Given the description of an element on the screen output the (x, y) to click on. 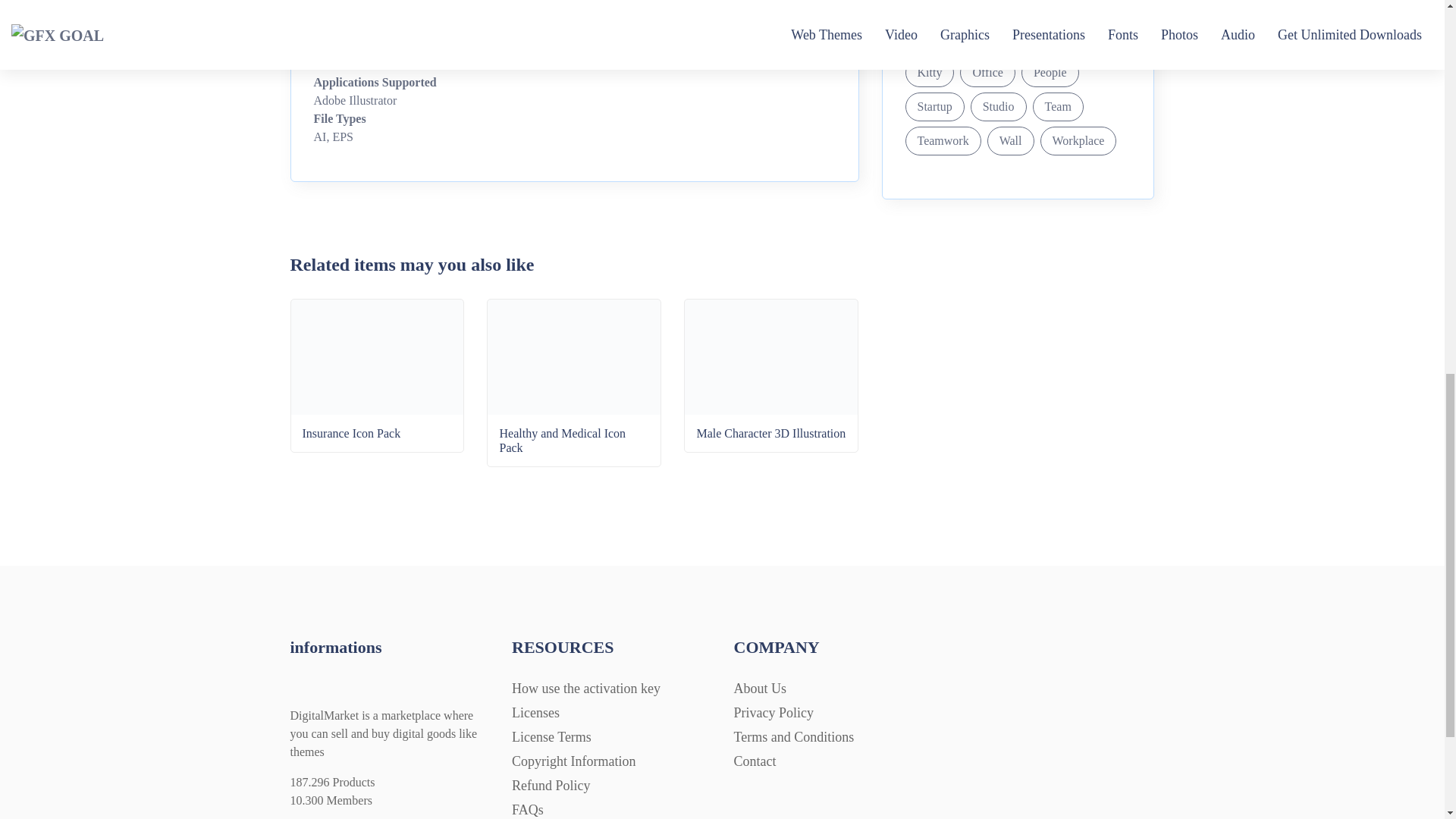
Insurance Icon Pack (377, 400)
Male Character 3D Illustration (770, 400)
Healthy and Medical Icon Pack (574, 407)
